Given the description of an element on the screen output the (x, y) to click on. 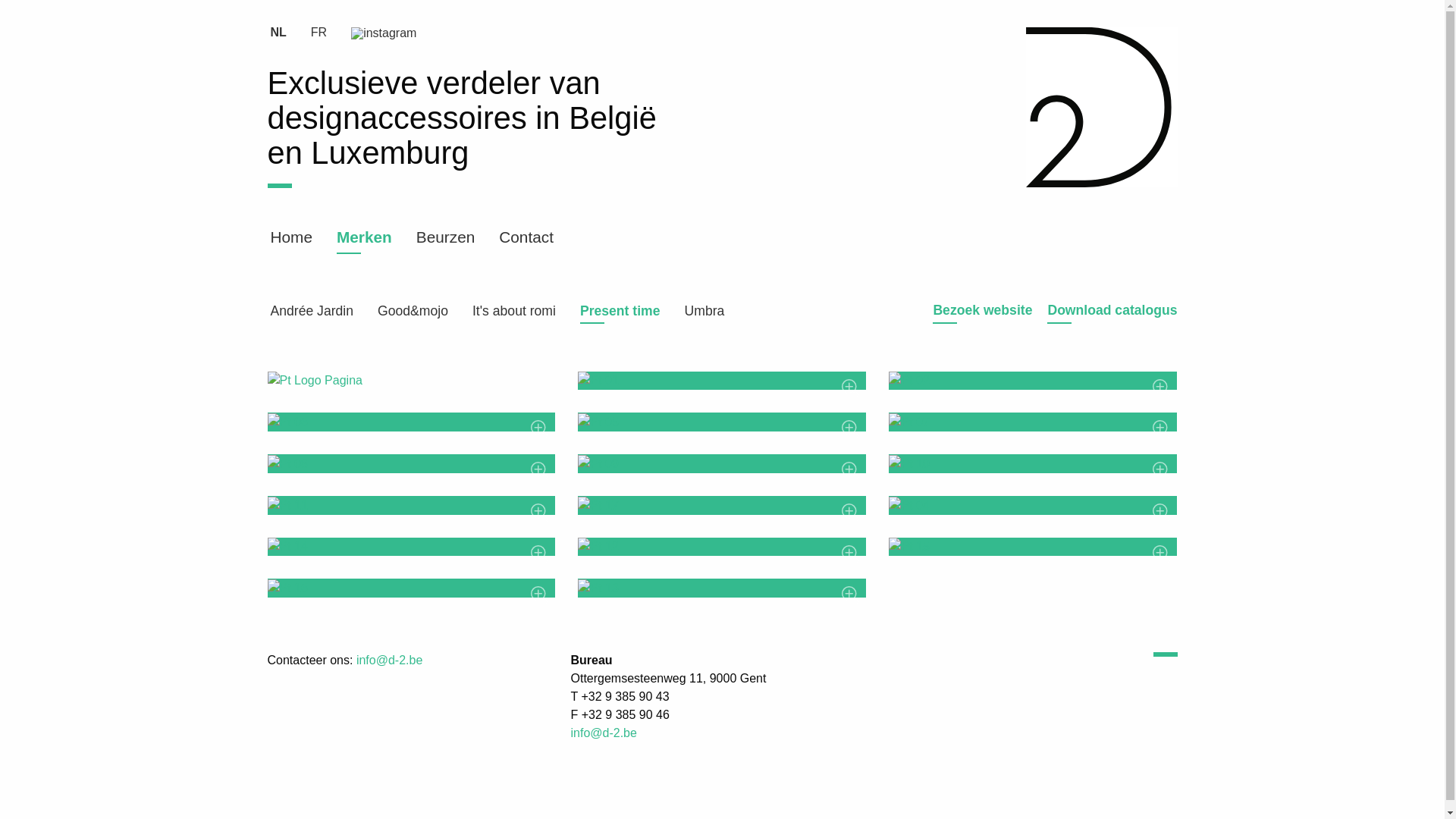
Home Element type: text (290, 237)
NL Element type: text (277, 32)
It's about romi Element type: text (513, 311)
Umbra Element type: text (704, 311)
FR Element type: text (318, 32)
Present time Element type: text (619, 311)
info@d-2.be Element type: text (603, 732)
Beurzen Element type: text (445, 237)
Contact Element type: text (525, 237)
info@d-2.be Element type: text (389, 659)
Download catalogus Element type: text (1111, 310)
Good&mojo Element type: text (412, 311)
Bezoek website Element type: text (982, 310)
Merken Element type: text (364, 237)
